Given the description of an element on the screen output the (x, y) to click on. 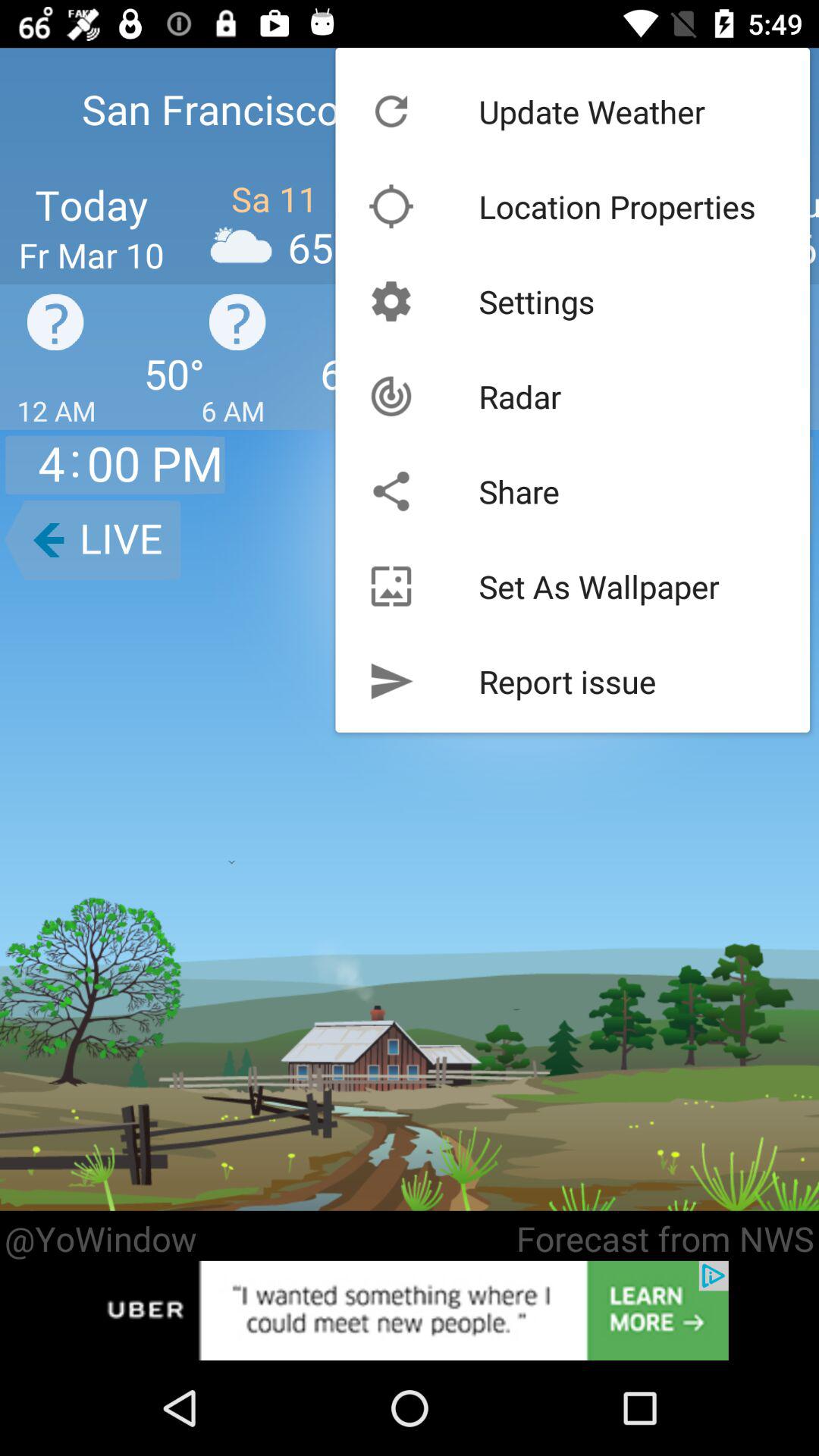
tap icon below radar (518, 491)
